Given the description of an element on the screen output the (x, y) to click on. 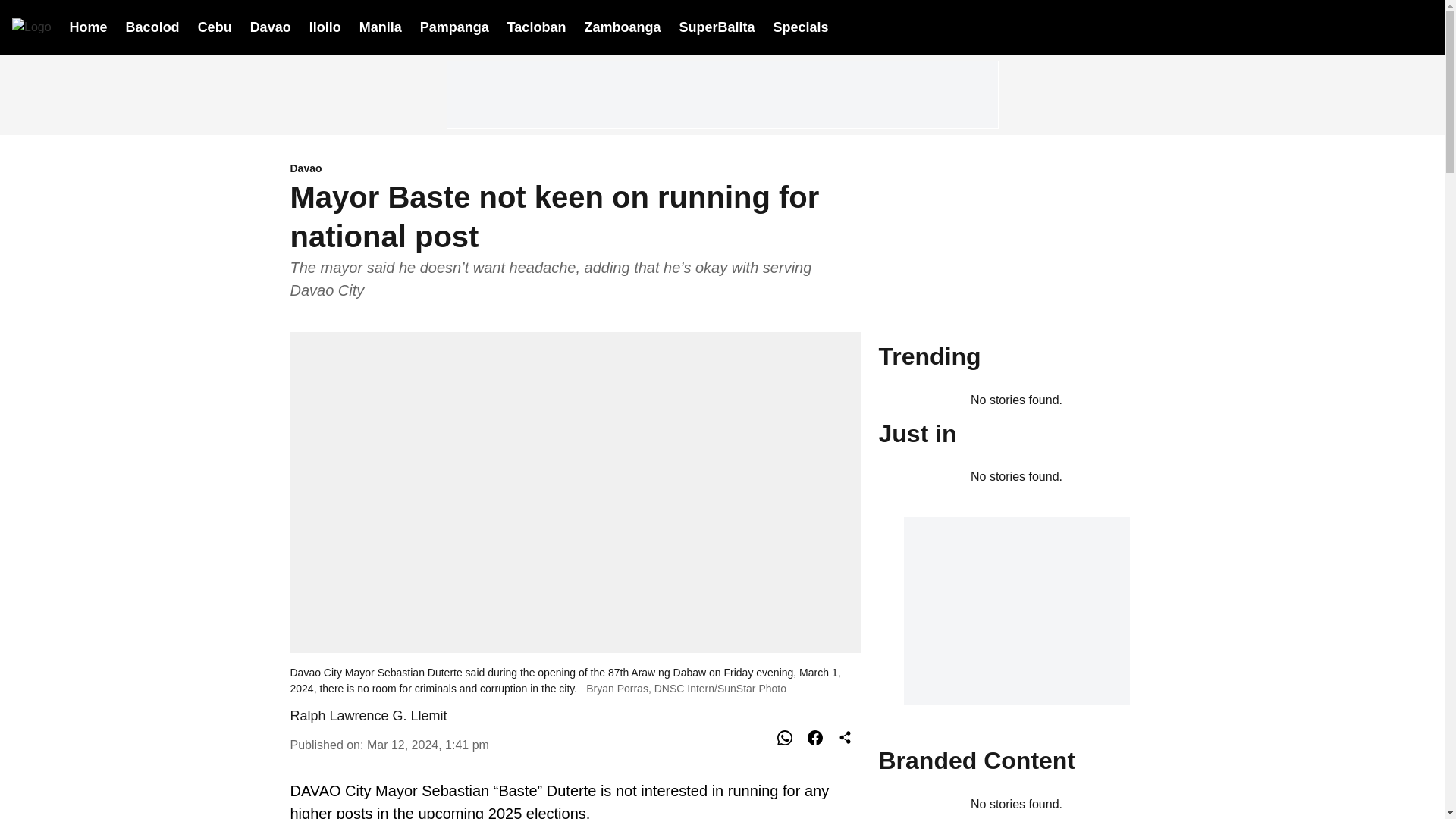
Davao (270, 26)
Ralph Lawrence G. Llemit (367, 715)
Tacloban (536, 26)
Cebu (214, 26)
Bacolod (152, 26)
Home (88, 26)
Zamboanga (622, 26)
Manila (380, 26)
2024-03-12 13:41 (427, 744)
Davao (574, 169)
Pampanga (454, 26)
Iloilo (324, 26)
SuperBalita (716, 27)
